Given the description of an element on the screen output the (x, y) to click on. 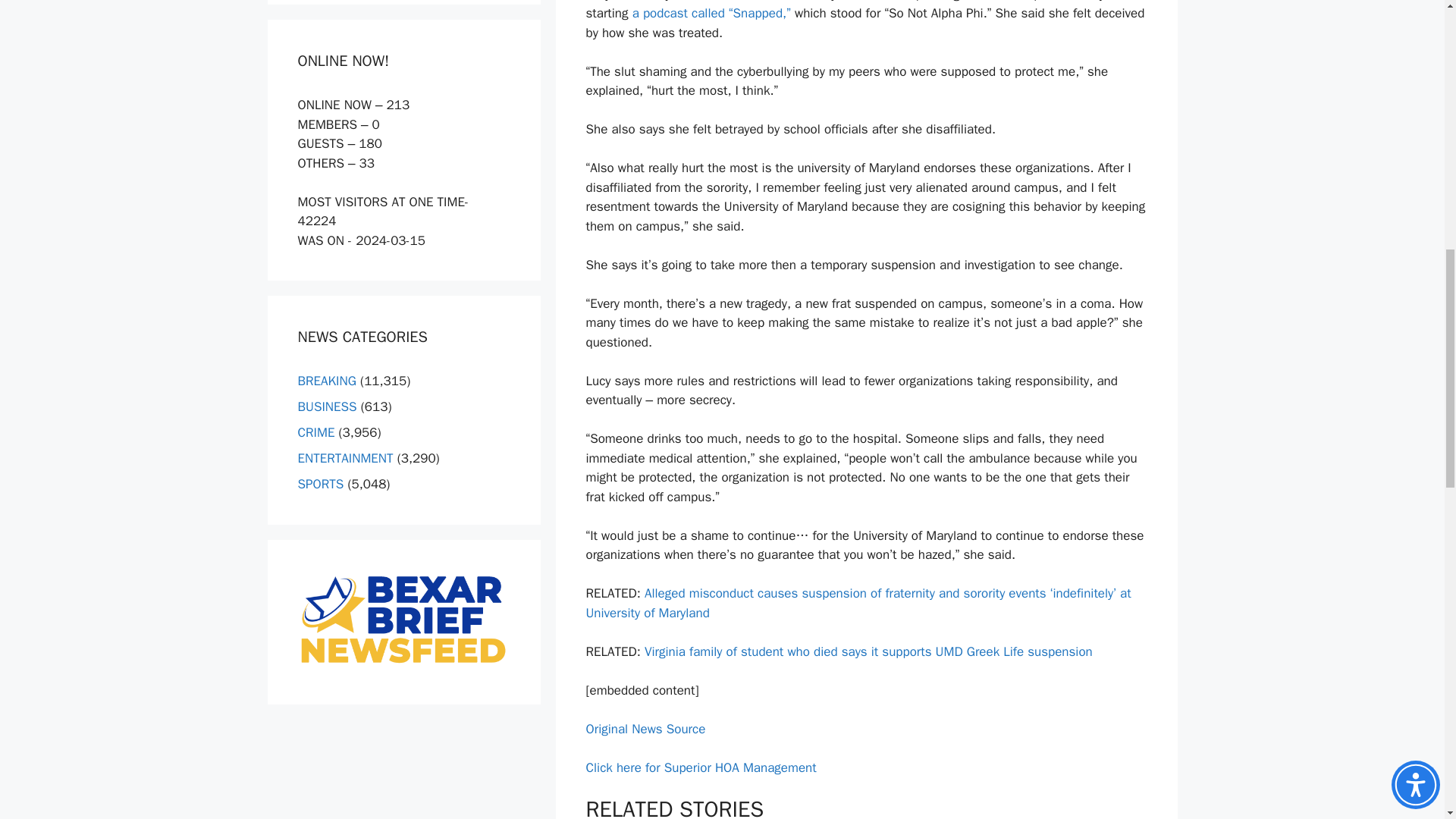
Original News Source (644, 729)
Click here for Superior HOA Management (700, 767)
